Given the description of an element on the screen output the (x, y) to click on. 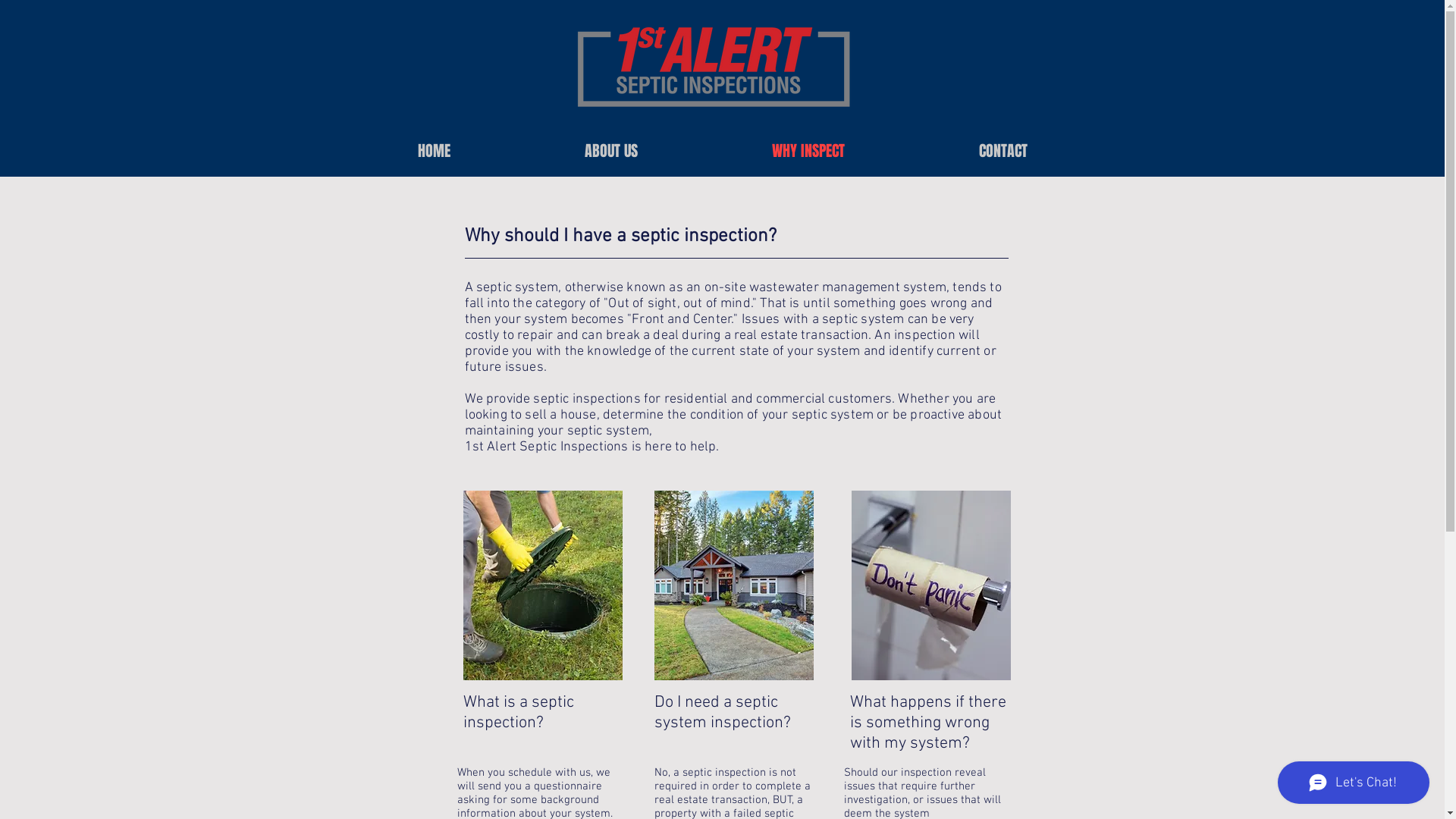
CONTACT Element type: text (1002, 151)
ABOUT US Element type: text (610, 151)
WHY INSPECT Element type: text (808, 151)
HOME Element type: text (433, 151)
